Given the description of an element on the screen output the (x, y) to click on. 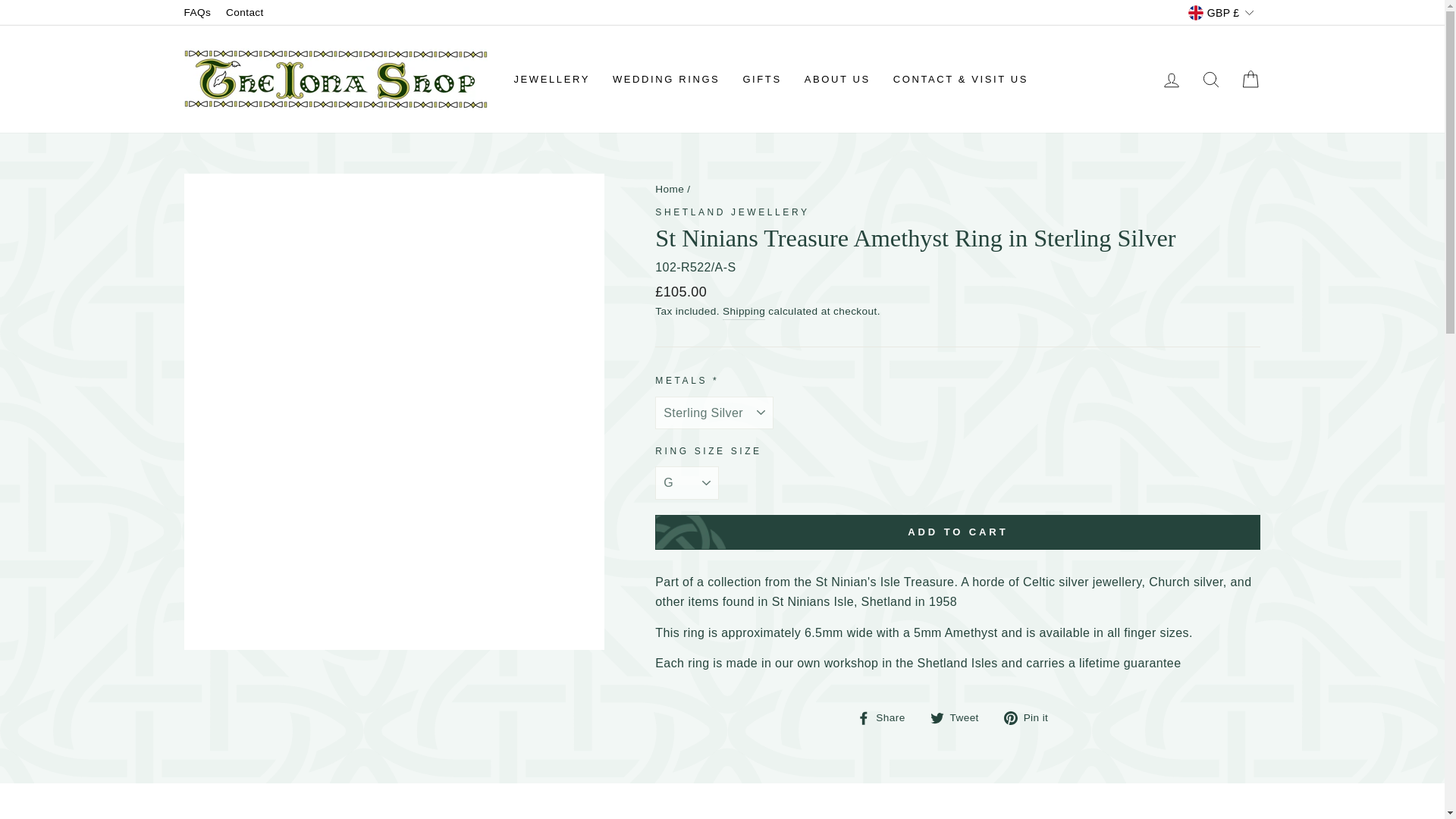
Share on Facebook (887, 717)
Tweet on Twitter (960, 717)
Pin on Pinterest (1031, 717)
Back to the frontpage (669, 188)
